Given the description of an element on the screen output the (x, y) to click on. 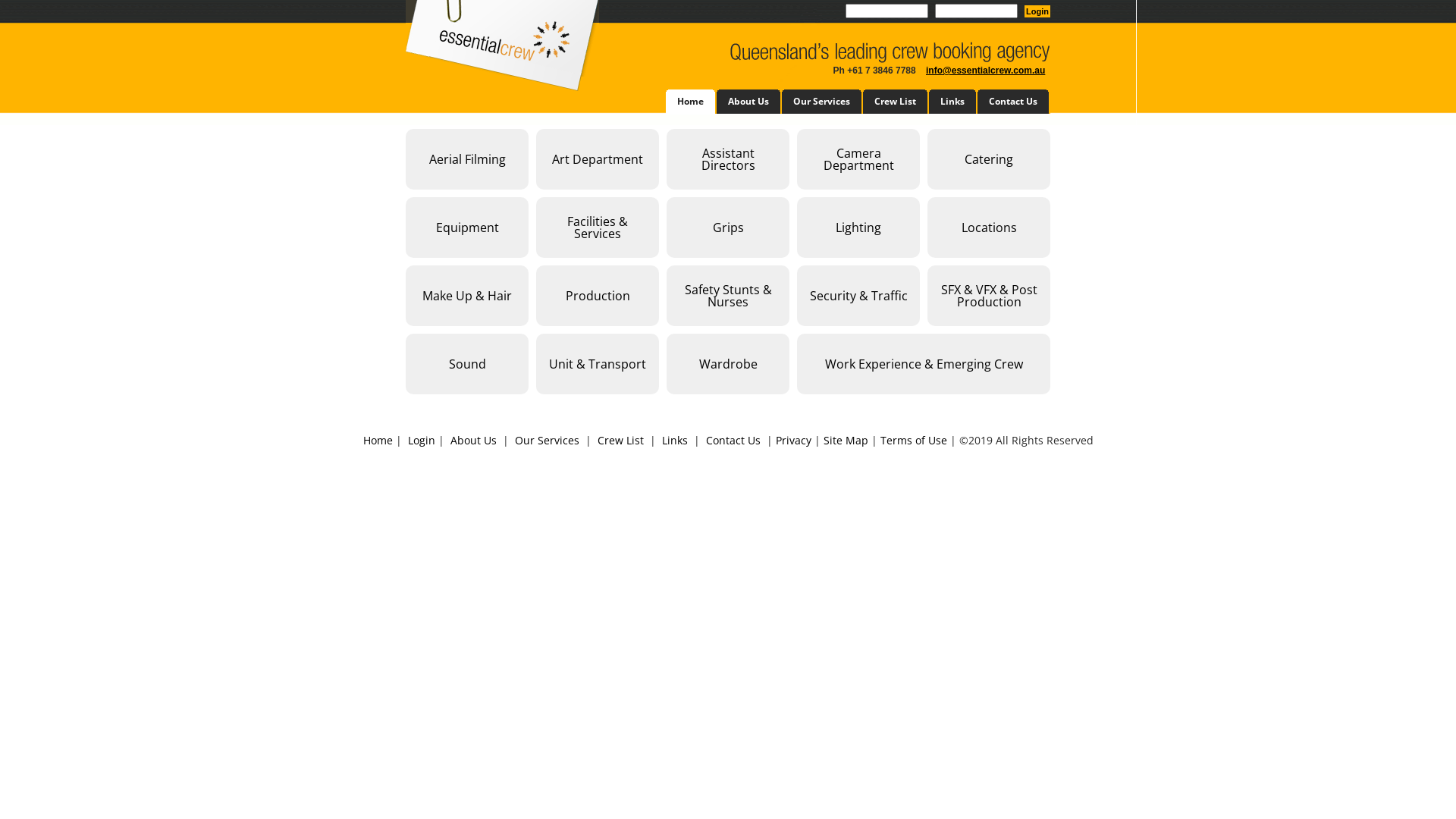
Security & Traffic Element type: text (858, 295)
Privacy Element type: text (792, 440)
Safety Stunts & Nurses Element type: text (727, 295)
Work Experience & Emerging Crew Element type: text (923, 363)
Crew List Element type: text (620, 440)
Login Element type: text (421, 440)
Aerial Filming Element type: text (466, 158)
info@essentialcrew.com.au Element type: text (984, 70)
Wardrobe Element type: text (727, 363)
Links Element type: text (674, 440)
Equipment Element type: text (466, 227)
About Us Element type: text (748, 101)
Locations Element type: text (988, 227)
Home Element type: text (377, 440)
Login Element type: text (1037, 11)
Links Element type: text (952, 101)
Facilities & Services Element type: text (597, 227)
Unit & Transport Element type: text (597, 363)
Art Department Element type: text (597, 158)
Contact Us Element type: text (1013, 101)
Sound Element type: text (466, 363)
Grips Element type: text (727, 227)
Our Services Element type: text (821, 101)
Production Element type: text (597, 295)
Home Element type: text (690, 101)
Terms of Use Element type: text (912, 440)
About Us Element type: text (473, 440)
Assistant Directors Element type: text (727, 158)
Site Map Element type: text (845, 440)
SFX & VFX & Post Production Element type: text (988, 295)
Make Up & Hair Element type: text (466, 295)
Crew List Element type: text (895, 101)
Catering Element type: text (988, 158)
Our Services Element type: text (546, 440)
Contact Us Element type: text (732, 440)
Lighting Element type: text (858, 227)
Camera Department Element type: text (858, 158)
